Given the description of an element on the screen output the (x, y) to click on. 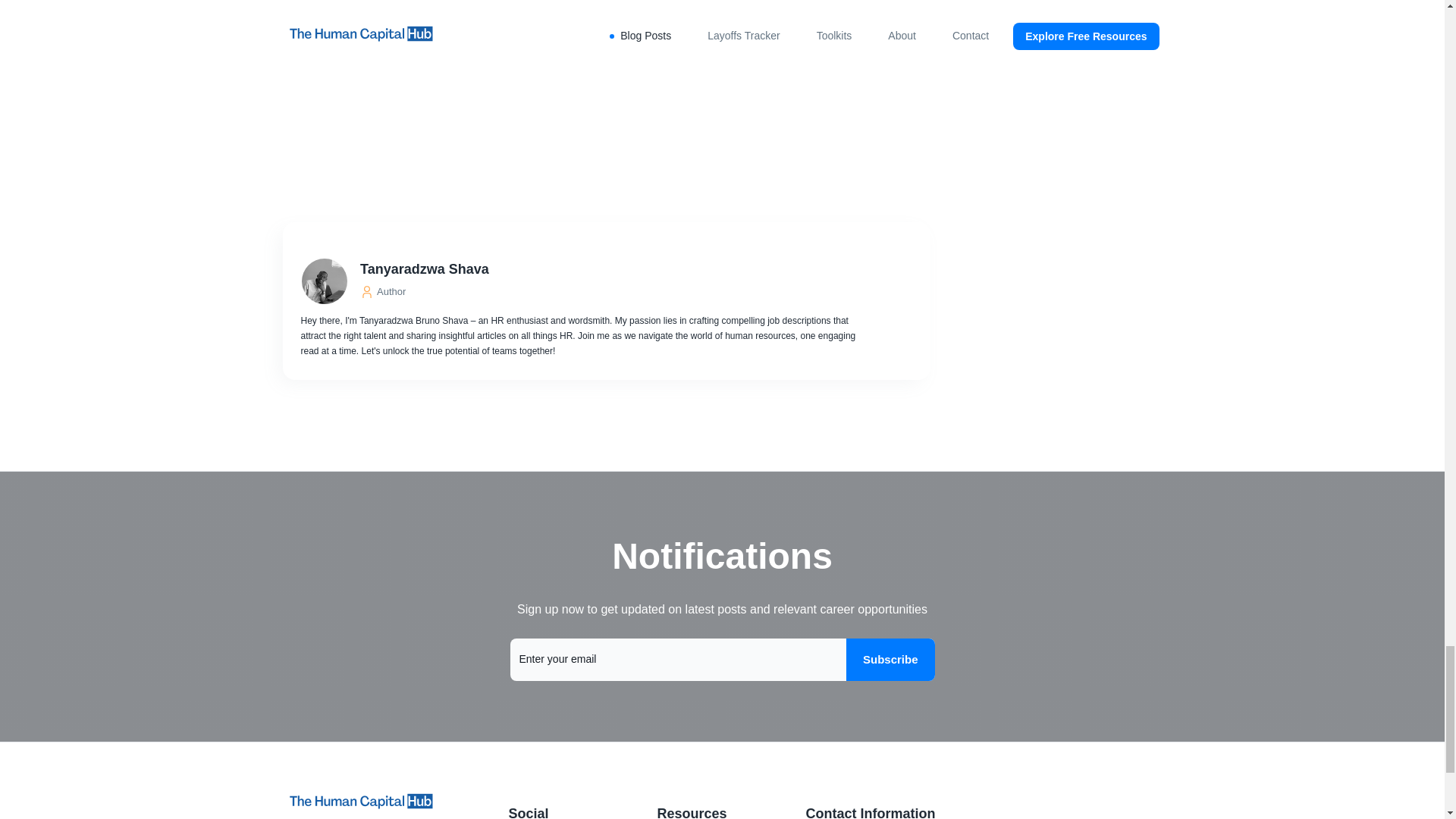
Subscribe (889, 659)
Tanyaradzwa Shava (608, 269)
